Given the description of an element on the screen output the (x, y) to click on. 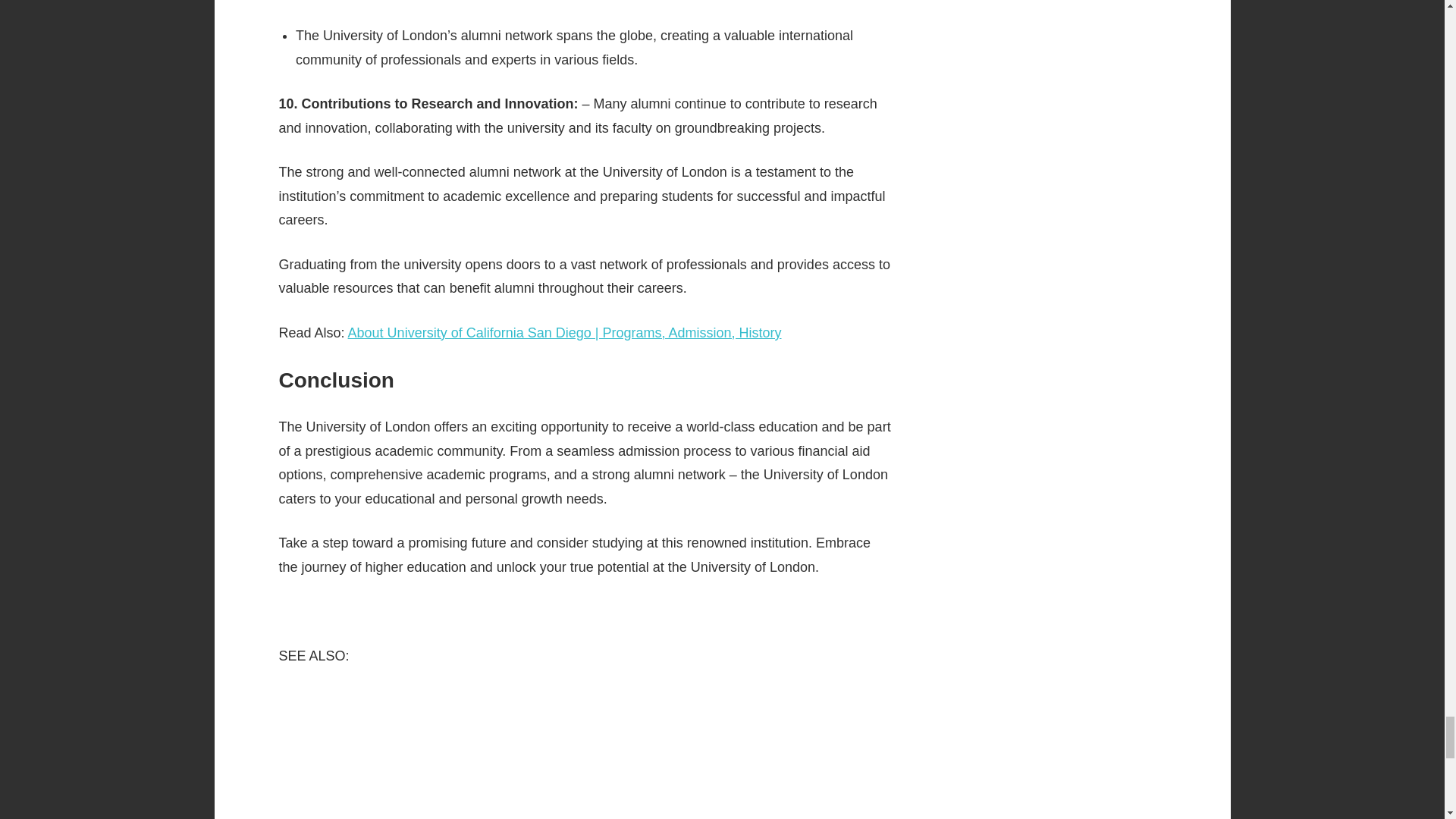
FULLY FUNDED SCHOLARSHIPS FOR INTERNATIONAL STUDENTS (586, 753)
